Given the description of an element on the screen output the (x, y) to click on. 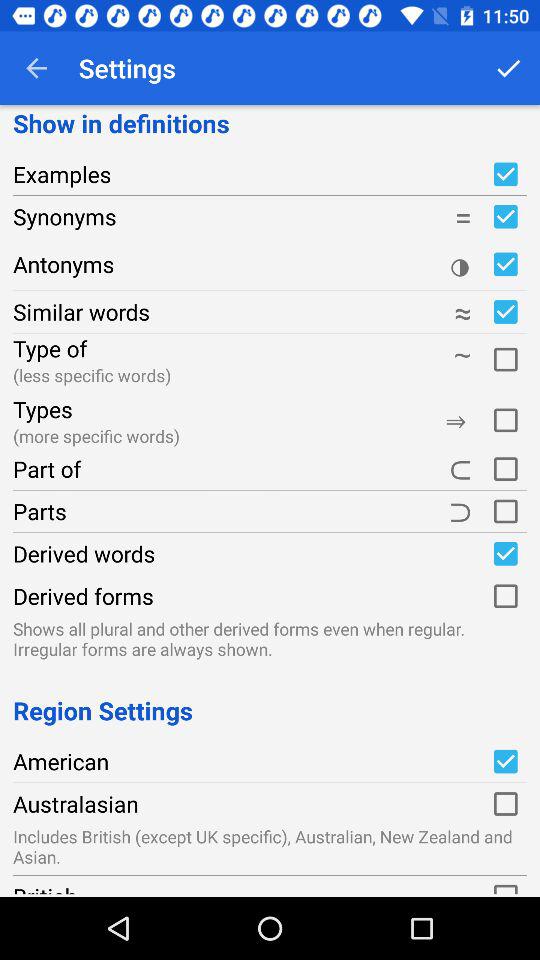
toggle types option (505, 417)
